Given the description of an element on the screen output the (x, y) to click on. 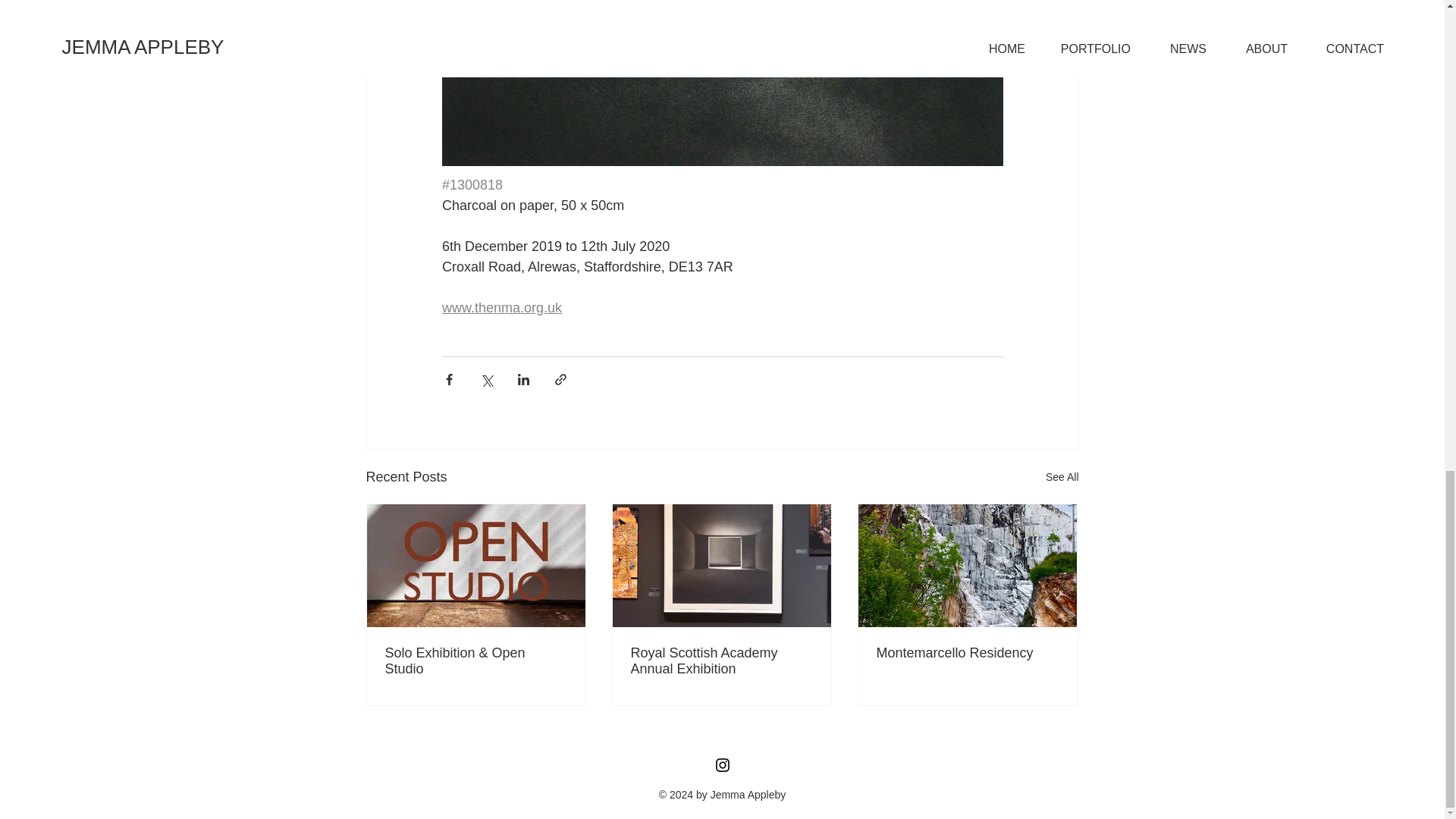
Montemarcello Residency (967, 652)
www.thenma.org.uk (500, 307)
See All (1061, 477)
Royal Scottish Academy Annual Exhibition (721, 661)
